Given the description of an element on the screen output the (x, y) to click on. 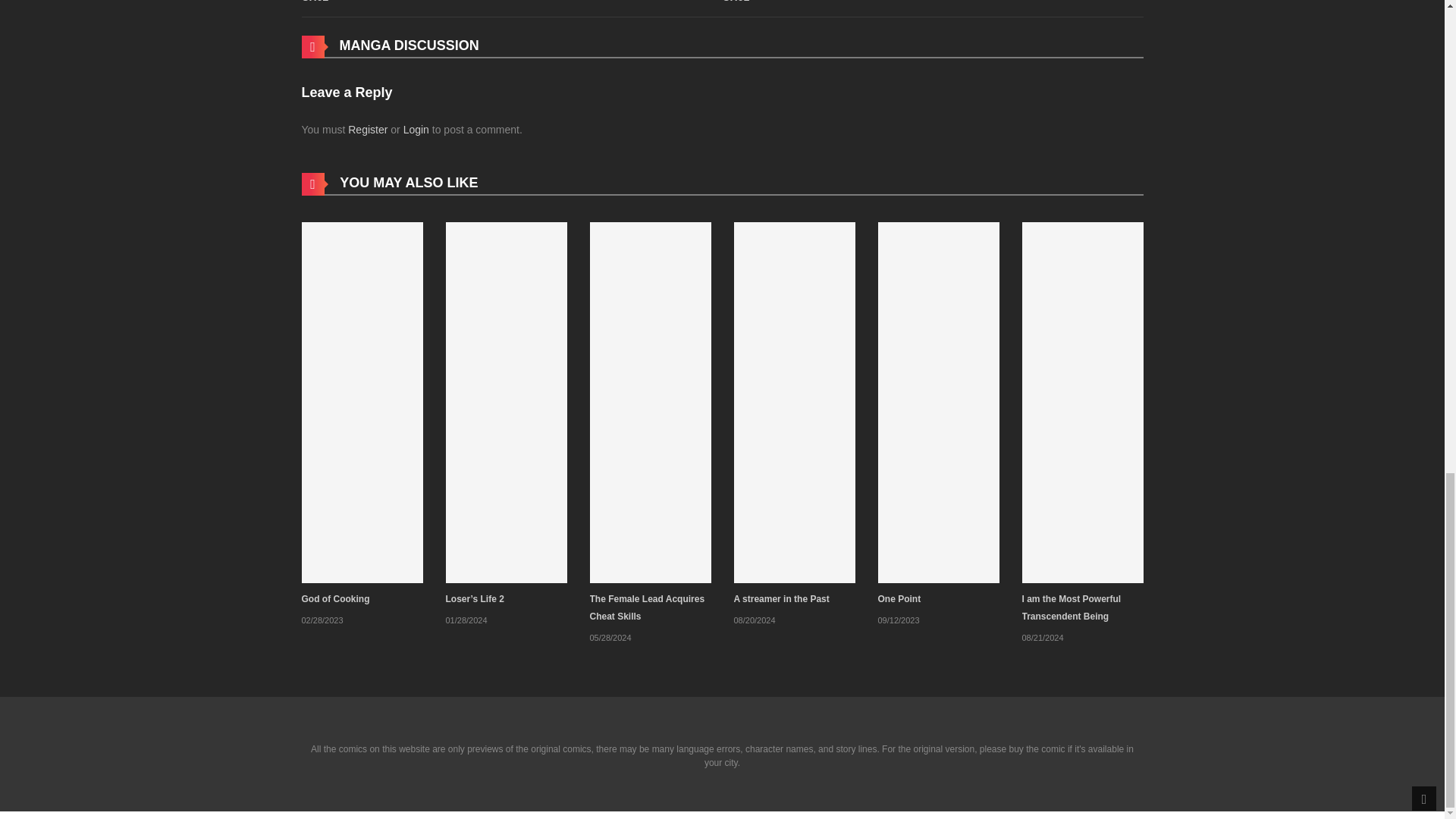
A streamer in the Past (794, 401)
A streamer in the Past (781, 598)
One Point (899, 598)
One Point (937, 401)
God of Cooking (335, 598)
God of Cooking (362, 401)
The Female Lead Acquires Cheat Skills (646, 607)
The Female Lead Acquires Cheat Skills (650, 401)
